Given the description of an element on the screen output the (x, y) to click on. 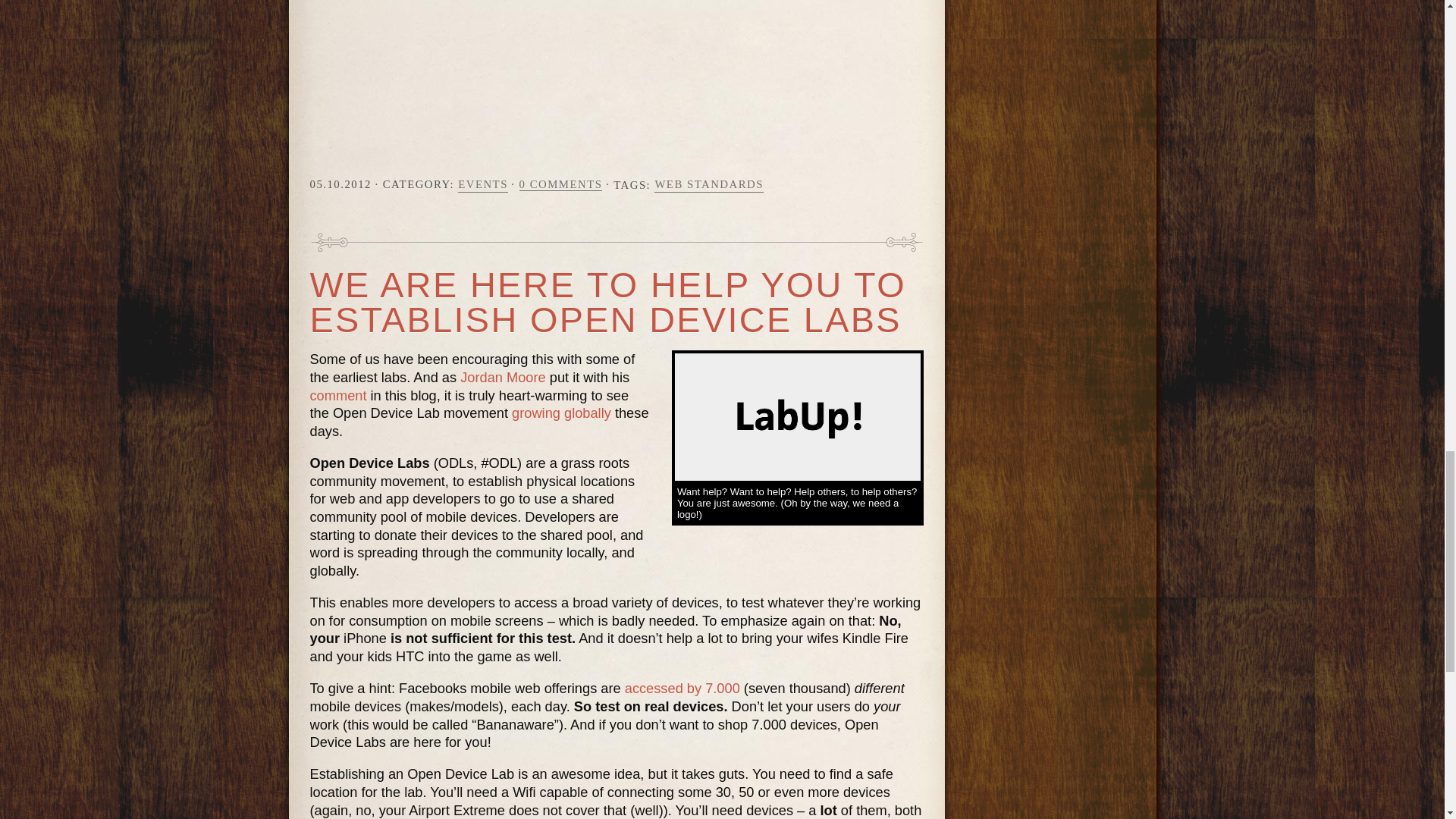
EVENTS (483, 184)
Jordan Moore (503, 376)
growing globally (561, 412)
accessed by 7.000 (681, 688)
WE ARE HERE TO HELP YOU TO ESTABLISH OPEN DEVICE LABS (606, 302)
LabUp! (797, 415)
WEB STANDARDS (707, 184)
We are here to help you to establish Open Device Labs (606, 302)
0 COMMENTS (560, 184)
comment (337, 395)
